Given the description of an element on the screen output the (x, y) to click on. 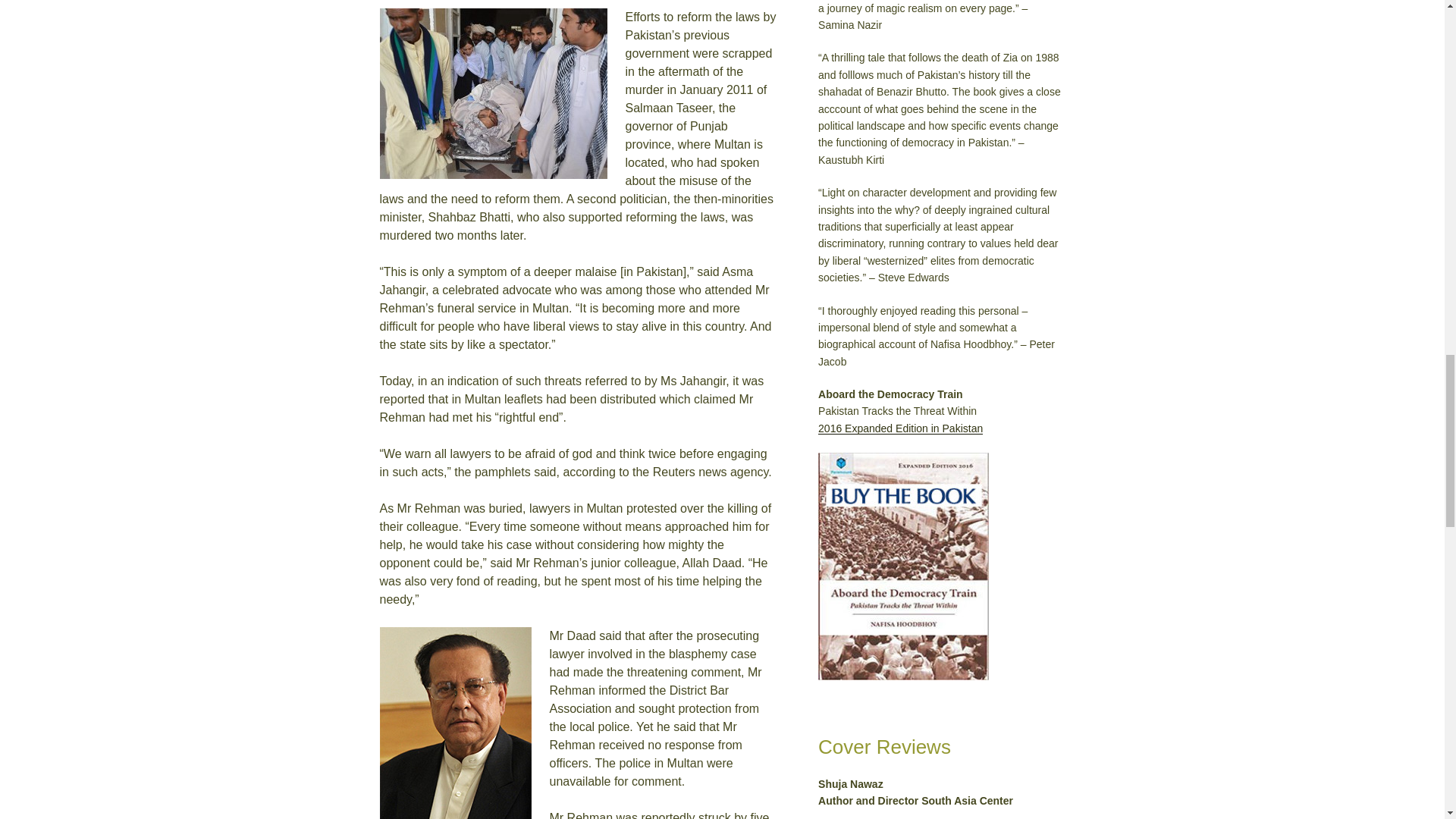
2016 Expanded Edition in Pakistan (900, 428)
